Given the description of an element on the screen output the (x, y) to click on. 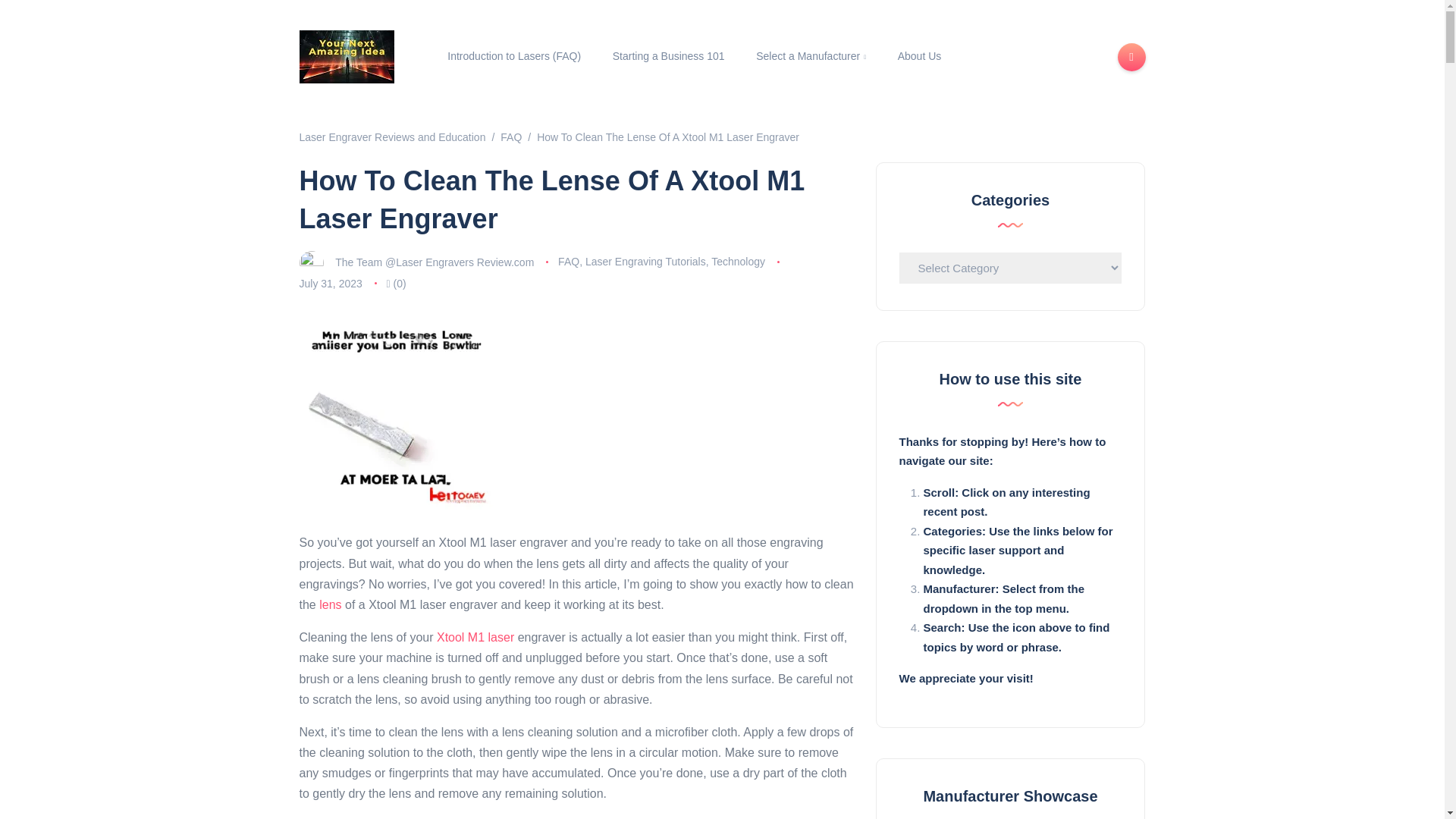
Go to the FAQ Category archives. (510, 137)
lens (329, 604)
Go to Laser Engraver Reviews and Education. (391, 137)
